Given the description of an element on the screen output the (x, y) to click on. 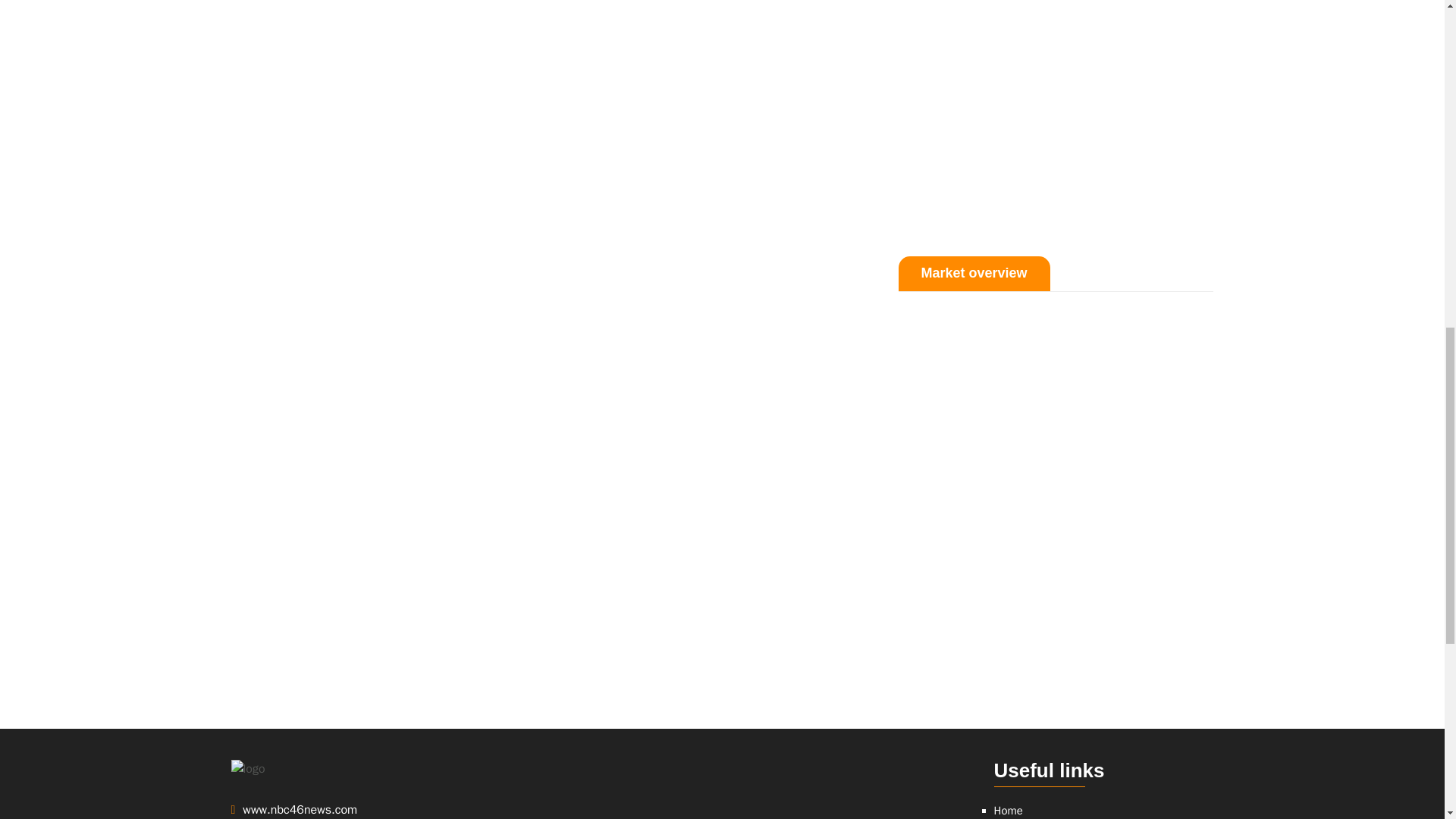
Home (1007, 810)
www.nbc46news.com (346, 809)
events TradingView widget (1055, 113)
symbol overview TradingView widget (721, 789)
market overview TradingView widget (1055, 485)
